Given the description of an element on the screen output the (x, y) to click on. 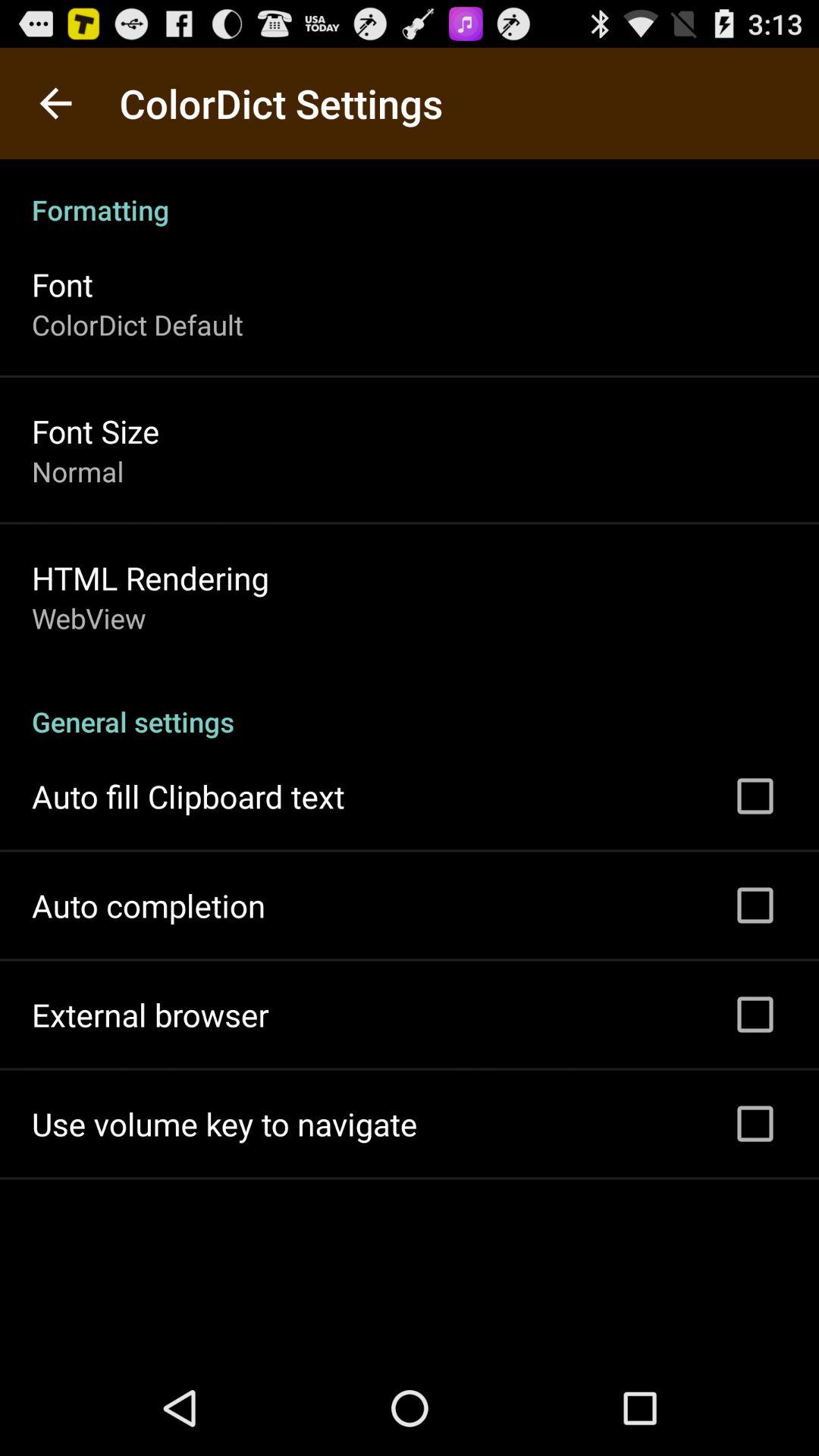
launch the use volume key app (224, 1123)
